Given the description of an element on the screen output the (x, y) to click on. 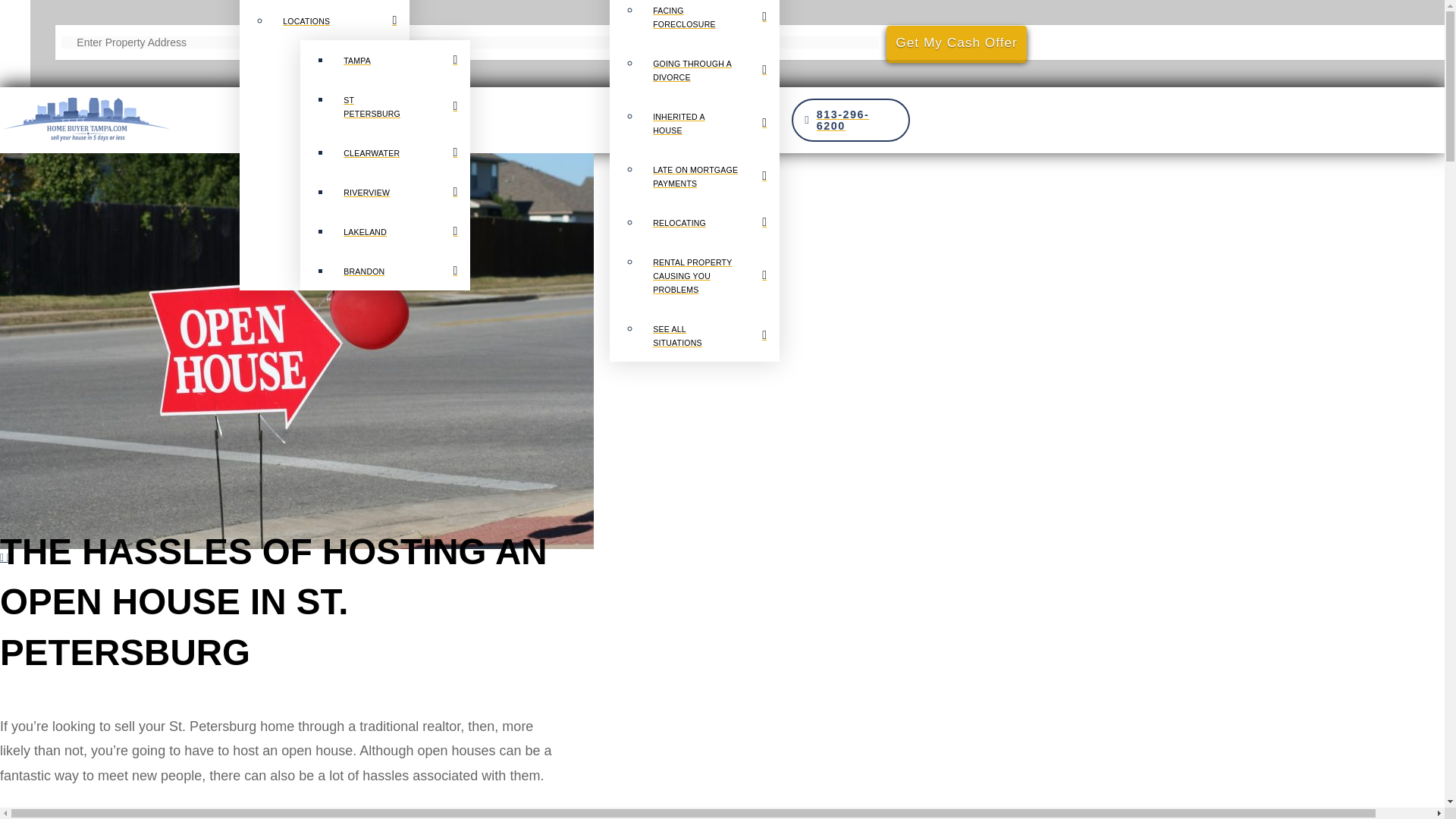
RIVERVIEW (400, 191)
INHERITED A HOUSE (709, 122)
BRANDON (400, 270)
SEE ALL SITUATIONS (709, 334)
FACING FORECLOSURE (709, 21)
LATE ON MORTGAGE PAYMENTS (709, 175)
813-296-6200 (851, 120)
RELOCATING (709, 221)
GOING THROUGH A DIVORCE (709, 69)
Get My Cash Offer (956, 42)
TAMPA (400, 59)
CLEARWATER (400, 151)
ST PETERSBURG (400, 105)
Get My Cash Offer (956, 42)
RENTAL PROPERTY CAUSING YOU PROBLEMS (709, 274)
